Given the description of an element on the screen output the (x, y) to click on. 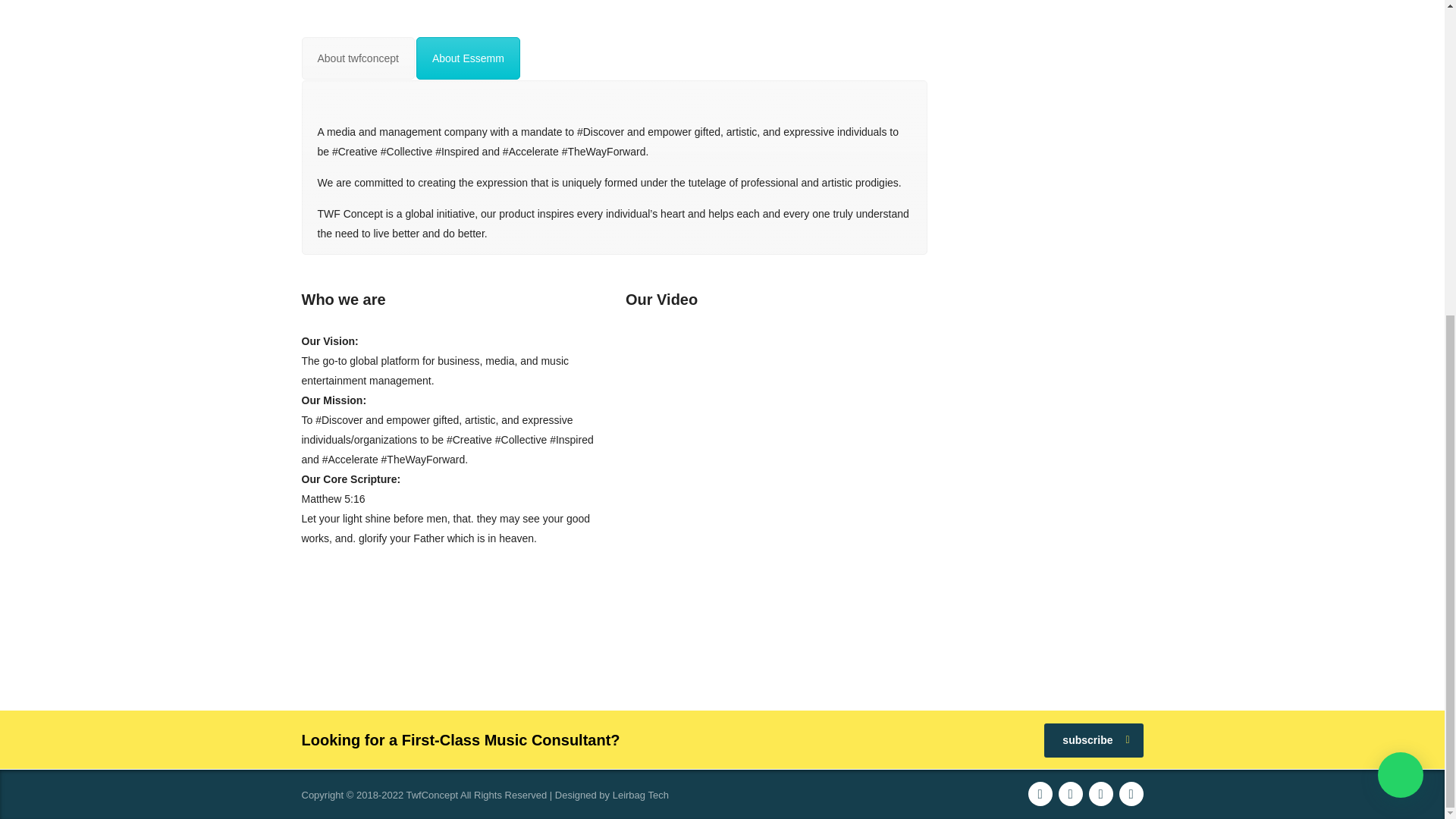
Leirbag Tech (640, 794)
About Essemm (467, 57)
About twfconcept (357, 57)
subscribe (1092, 740)
